Given the description of an element on the screen output the (x, y) to click on. 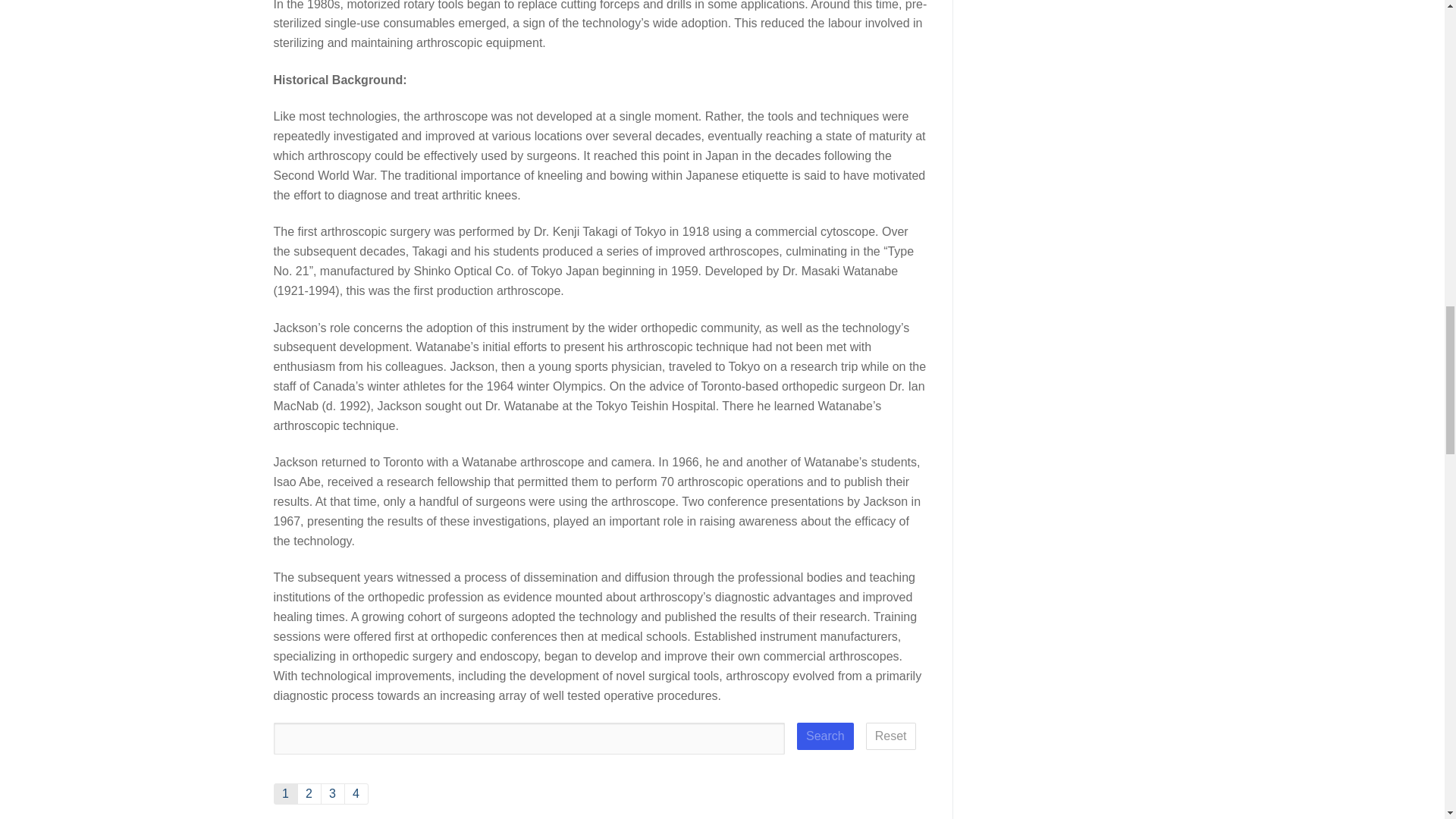
1 (286, 793)
3 (332, 793)
Search (824, 736)
4 (354, 793)
2 (308, 793)
Reset (890, 736)
